Given the description of an element on the screen output the (x, y) to click on. 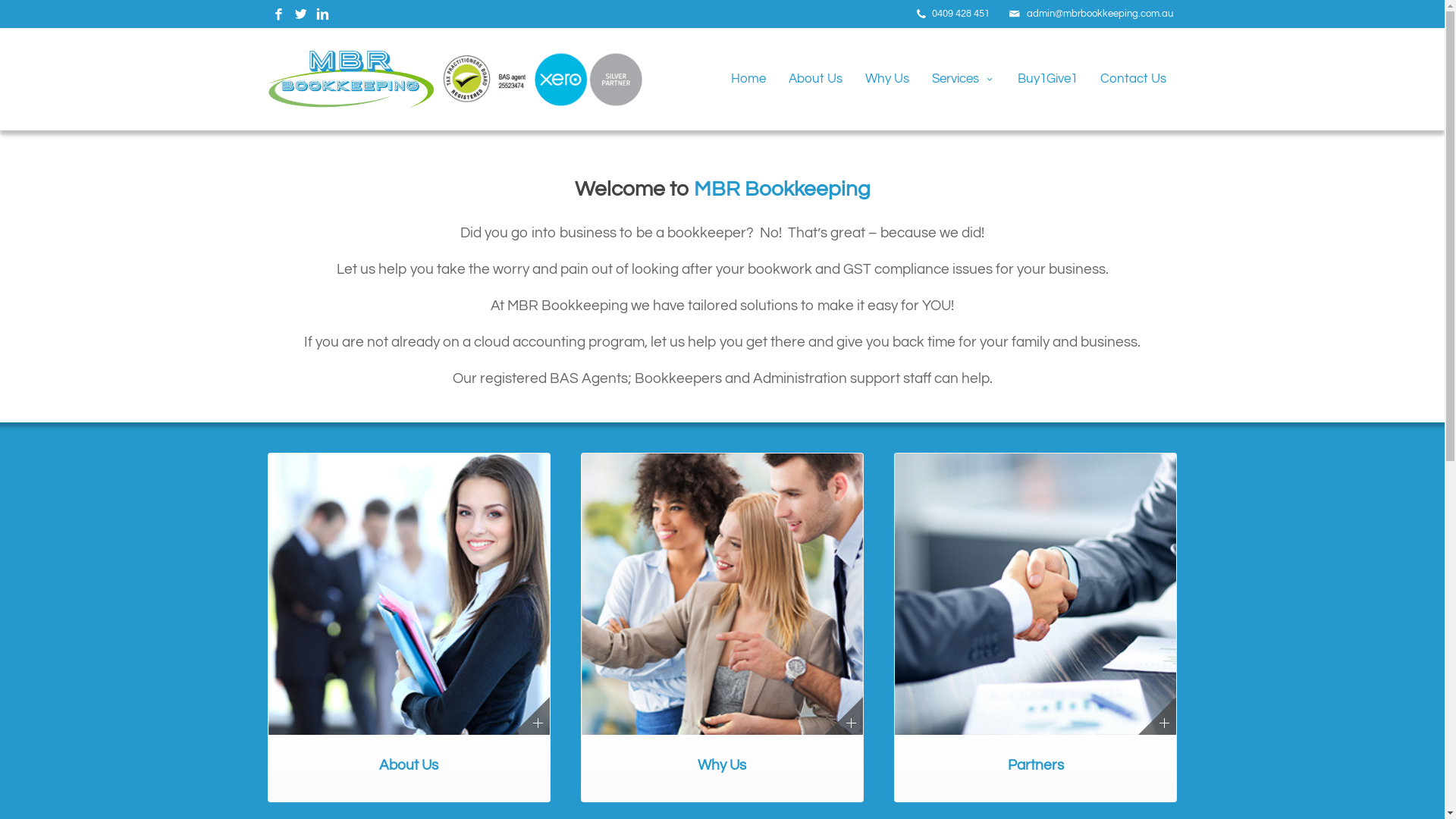
Contact Us Element type: text (1132, 77)
Home Element type: text (747, 77)
0409 428 451 Element type: text (959, 13)
Twitter Element type: hover (300, 14)
About Us Element type: text (407, 627)
Facebook Element type: hover (277, 14)
Partners Element type: text (1035, 627)
admin@mbrbookkeeping.com.au Element type: text (1099, 13)
Why Us Element type: text (721, 627)
Why Us Element type: text (886, 77)
About Us Element type: text (814, 77)
Buy1Give1 Element type: text (1046, 77)
Services Element type: text (963, 77)
LinkedIn Element type: hover (321, 14)
